Given the description of an element on the screen output the (x, y) to click on. 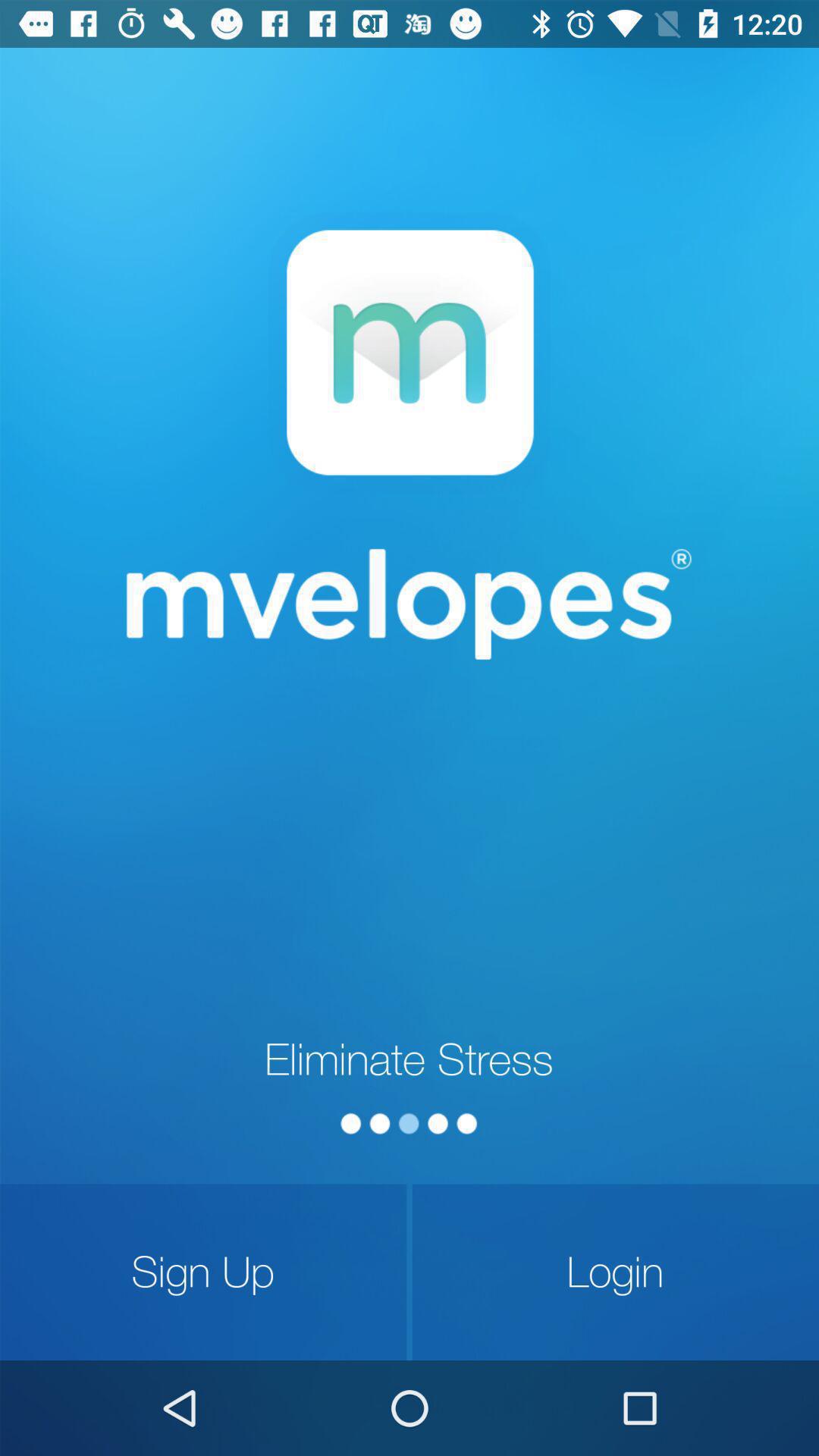
turn off the icon next to the sign up (615, 1272)
